Given the description of an element on the screen output the (x, y) to click on. 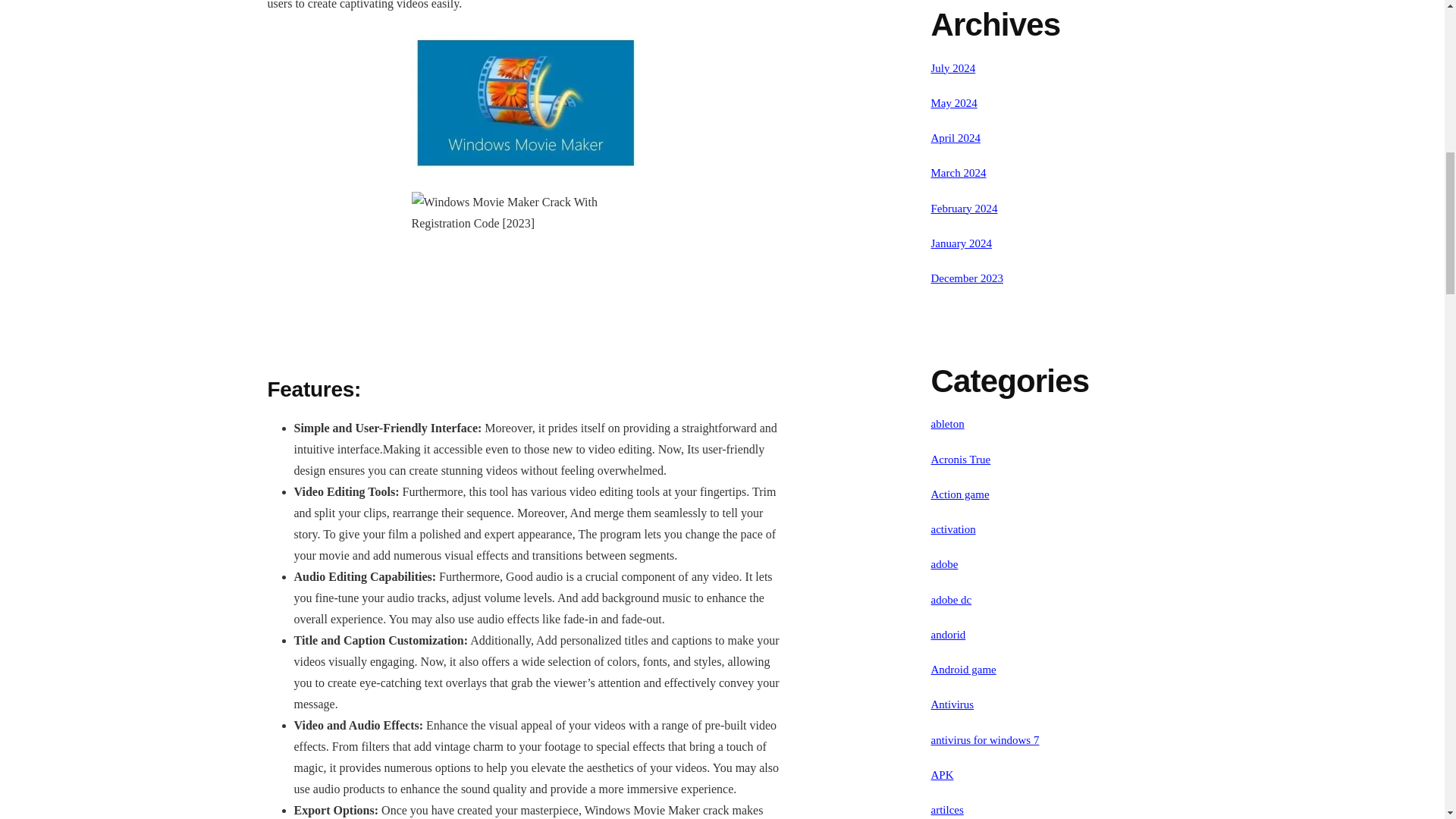
January 2024 (961, 243)
ableton (947, 423)
adobe (944, 563)
May 2024 (953, 102)
Action game (960, 494)
December 2023 (967, 277)
andorid (948, 634)
February 2024 (964, 207)
Acronis True (961, 459)
April 2024 (955, 137)
March 2024 (959, 173)
Android game (963, 669)
activation (953, 529)
adobe dc (951, 599)
July 2024 (953, 68)
